Given the description of an element on the screen output the (x, y) to click on. 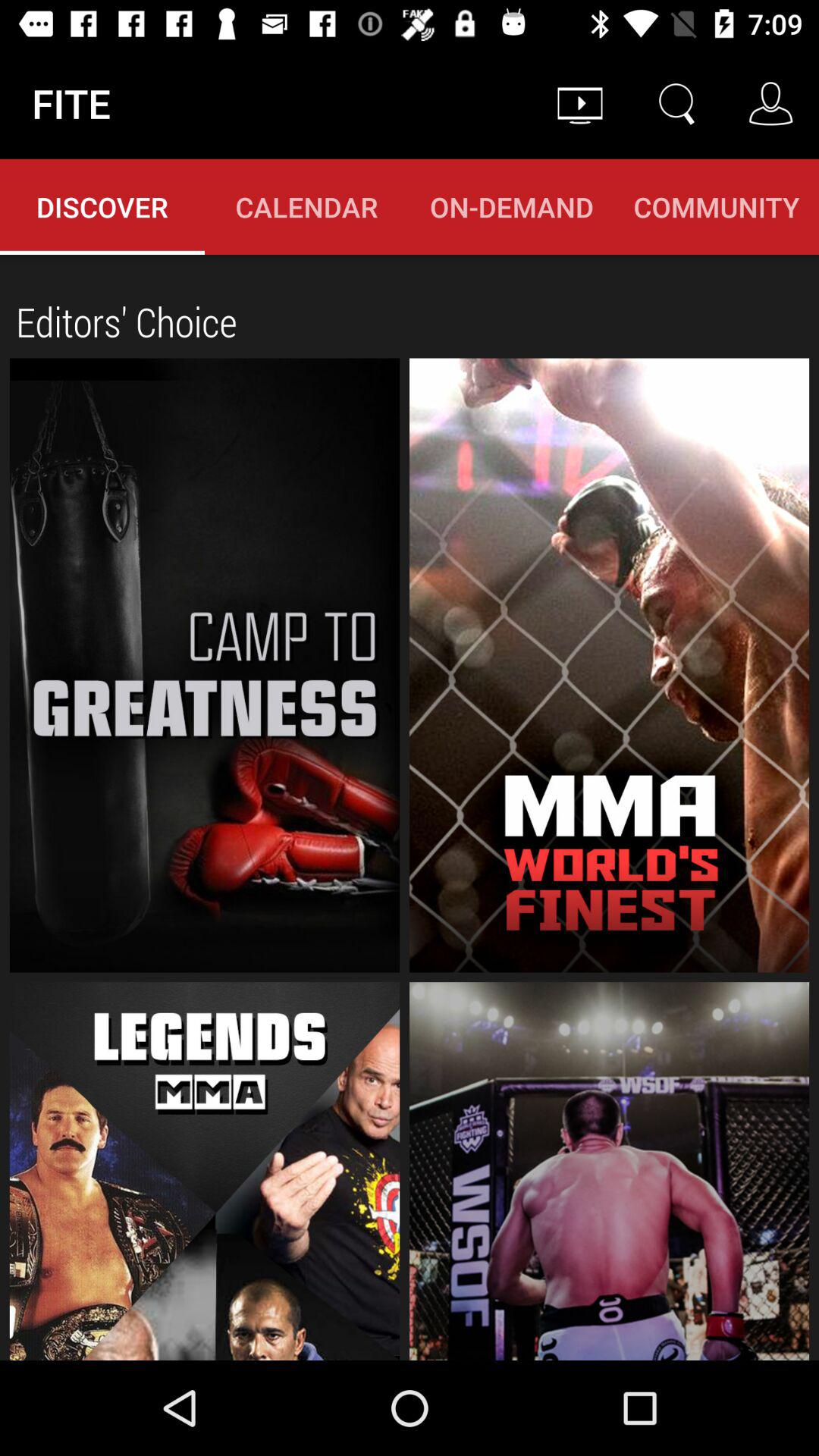
tap the item above community icon (675, 103)
